Given the description of an element on the screen output the (x, y) to click on. 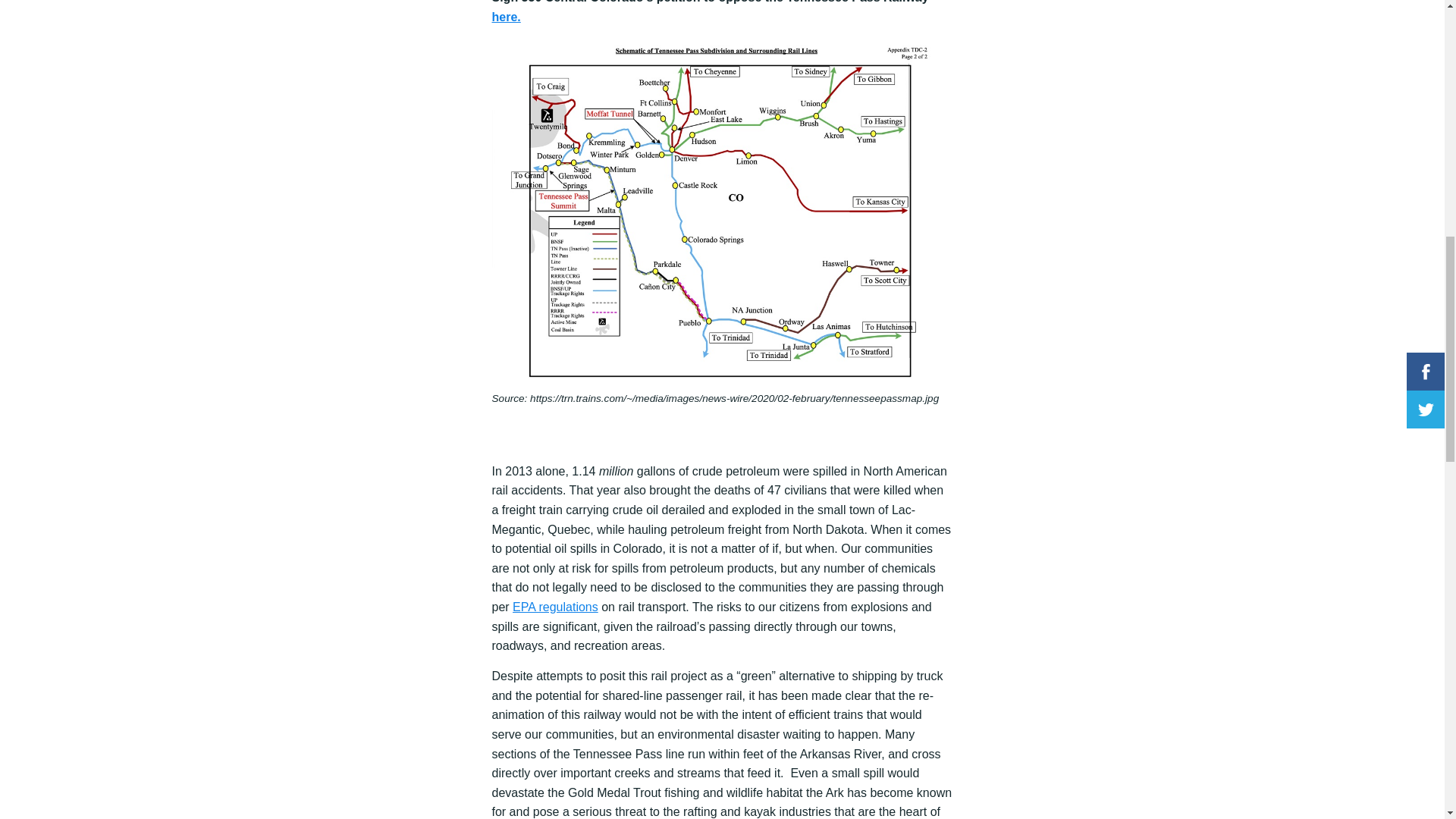
EPA regulations (555, 606)
here. (505, 16)
